Given the description of an element on the screen output the (x, y) to click on. 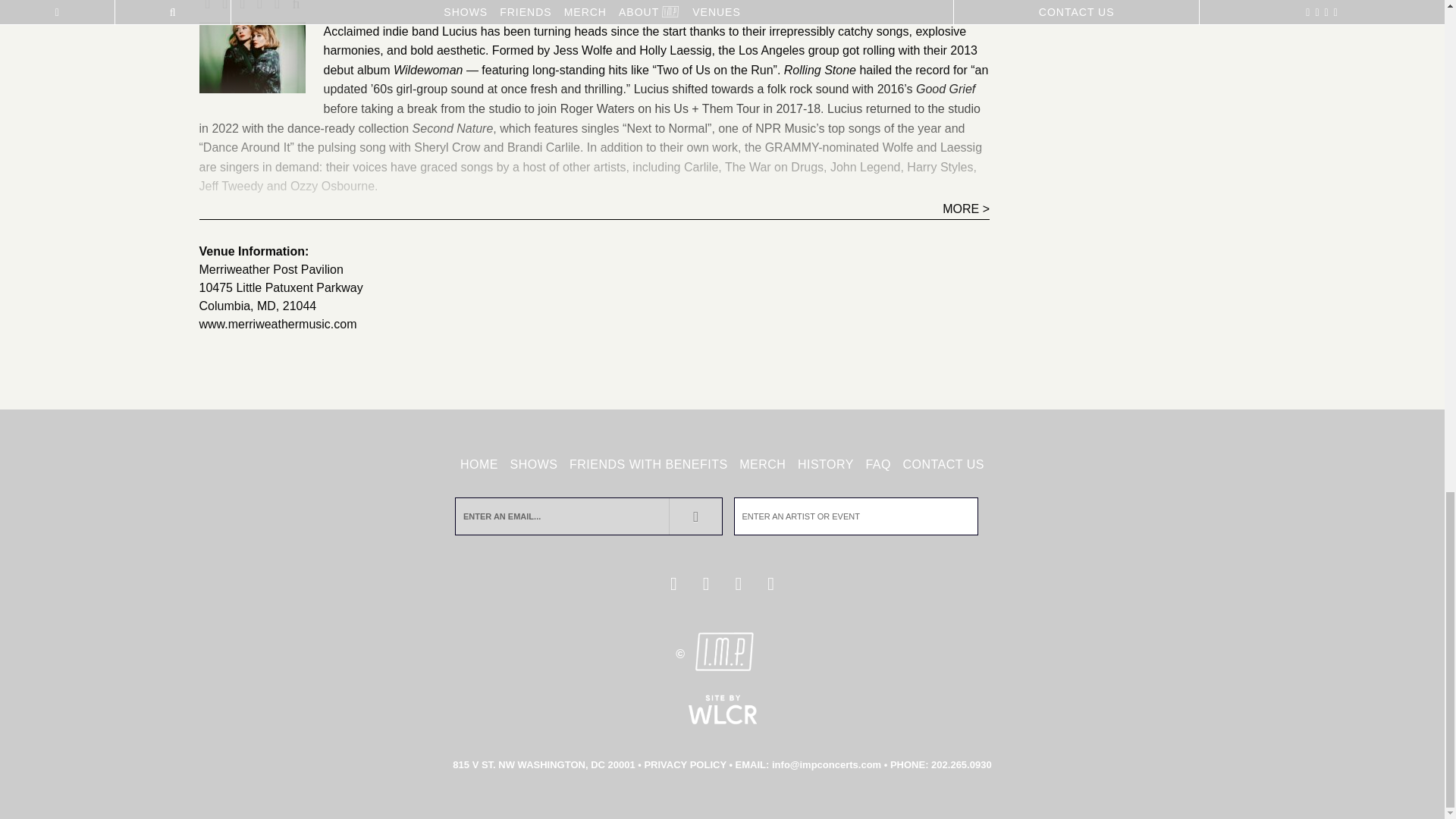
Search for: (854, 515)
